Given the description of an element on the screen output the (x, y) to click on. 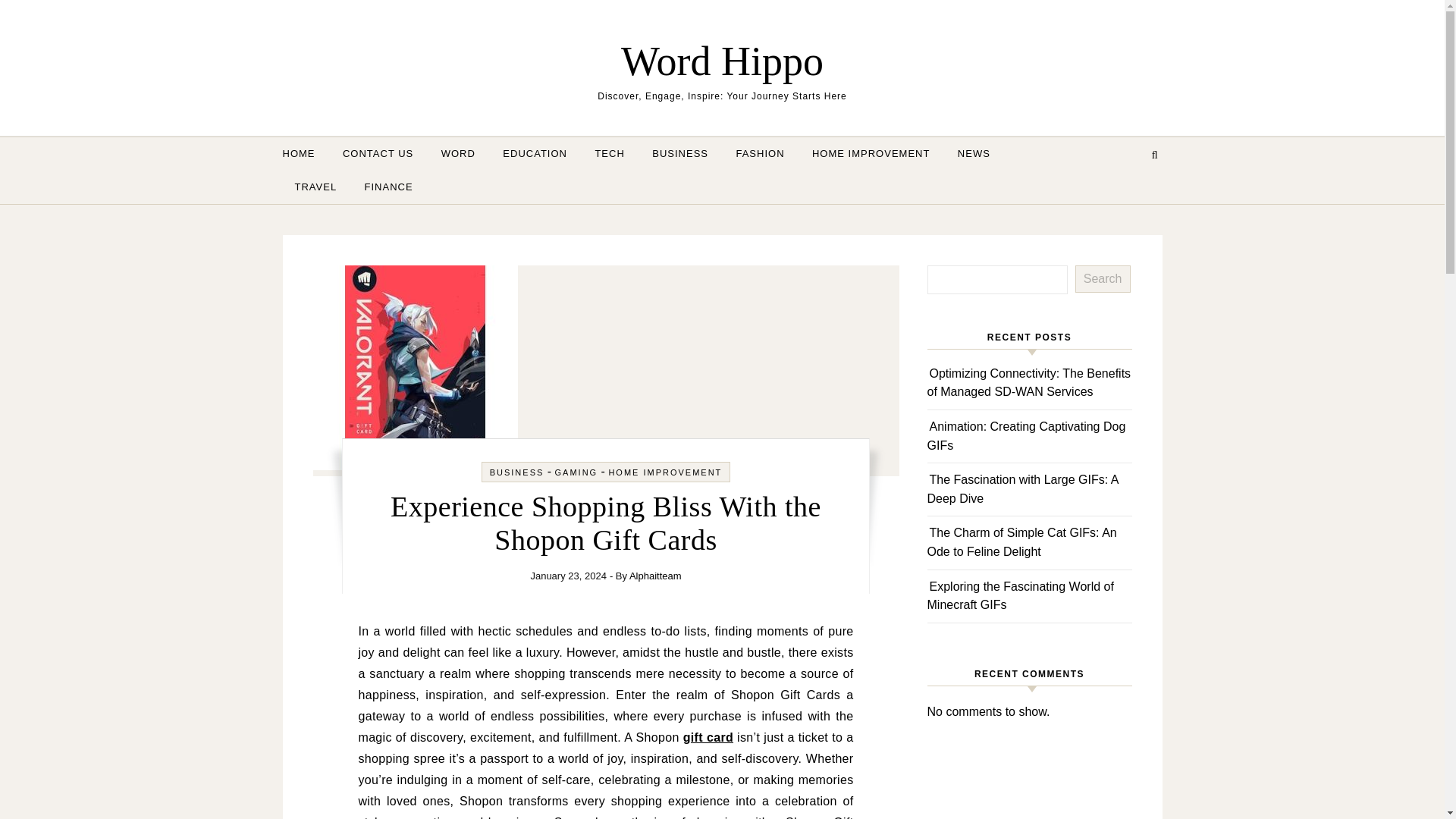
CONTACT US (377, 153)
TECH (609, 153)
HOME IMPROVEMENT (665, 471)
NEWS (973, 153)
BUSINESS (516, 471)
FINANCE (382, 186)
gift card (707, 737)
FASHION (759, 153)
EDUCATION (534, 153)
TRAVEL (315, 186)
HOME IMPROVEMENT (870, 153)
Posts by Alphaitteam (654, 575)
Alphaitteam (654, 575)
GAMING (576, 471)
BUSINESS (680, 153)
